Given the description of an element on the screen output the (x, y) to click on. 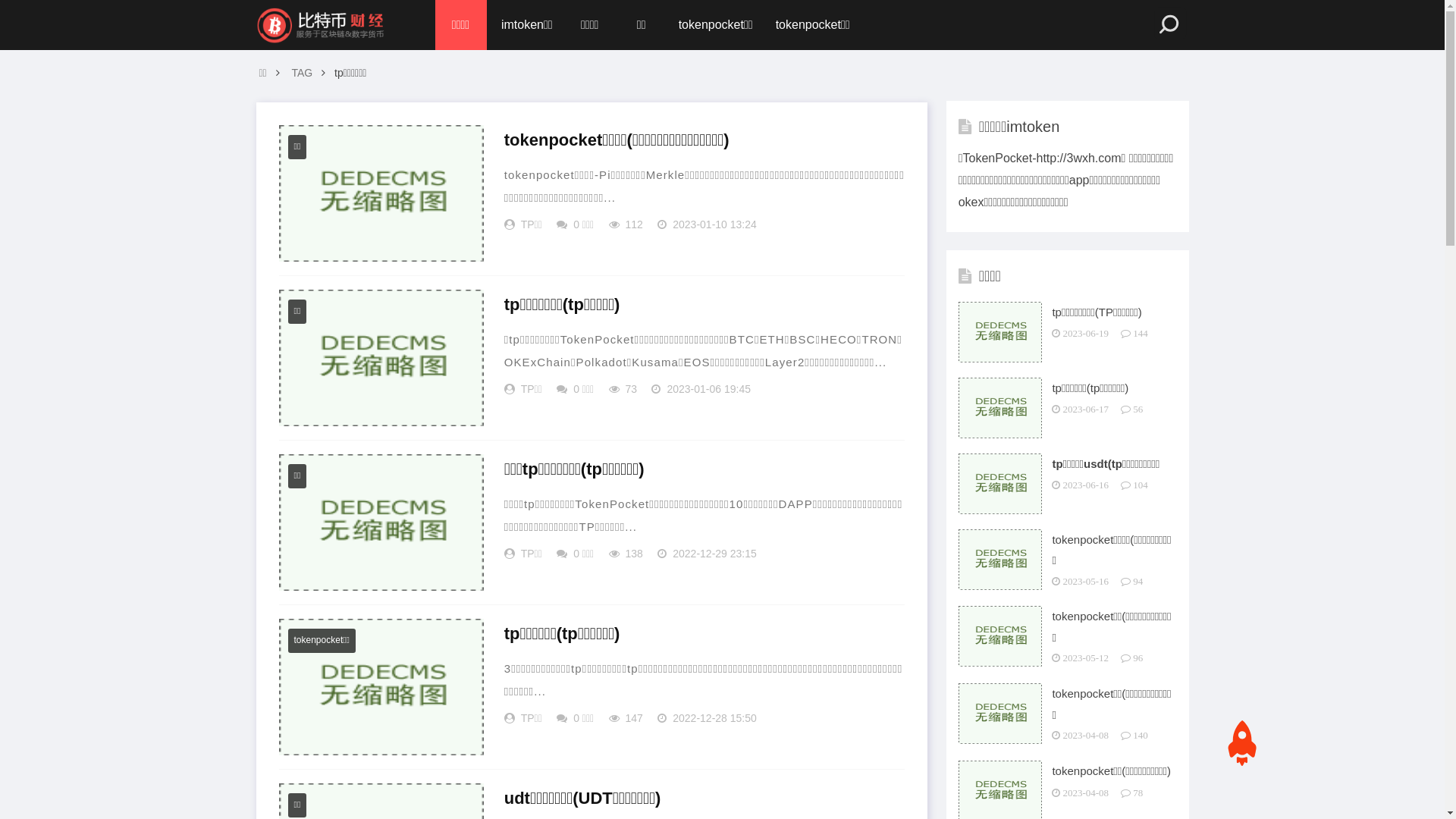
TokenPocket Element type: hover (320, 24)
TokenPocket Element type: hover (320, 25)
TAG Element type: text (300, 72)
